Given the description of an element on the screen output the (x, y) to click on. 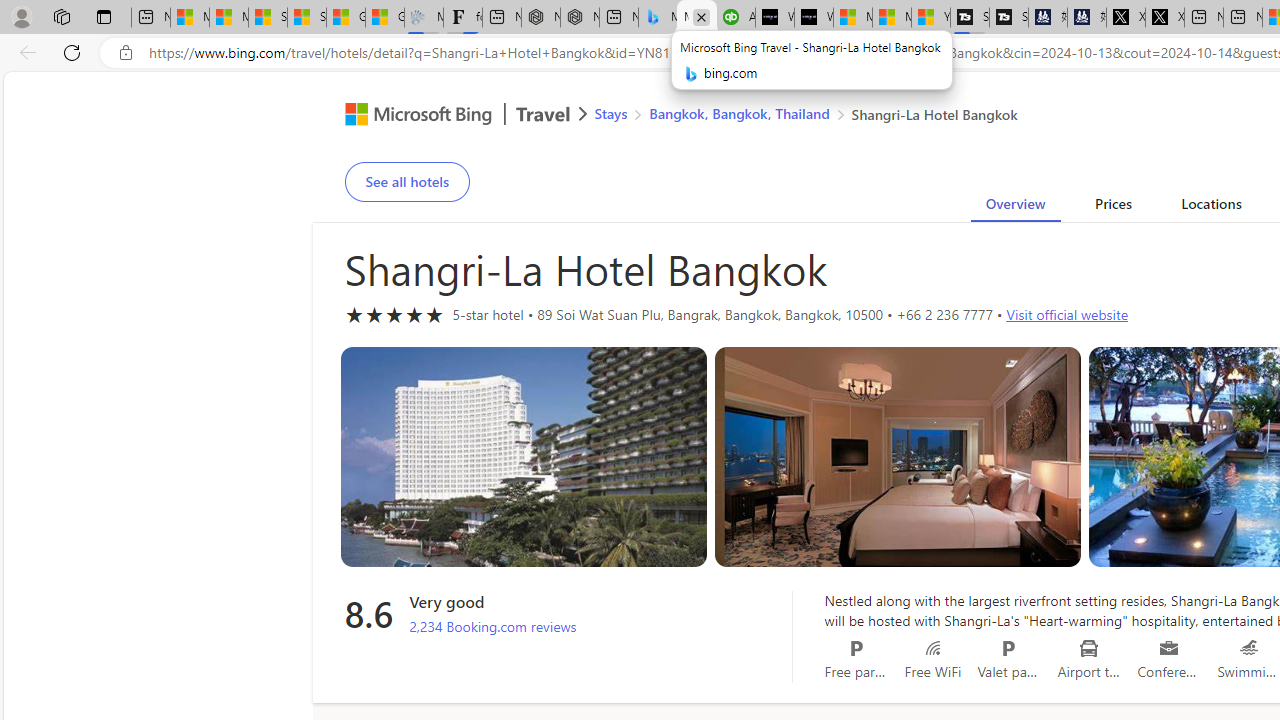
Prices (1112, 207)
Class: msft-bing-logo msft-bing-logo-desktop (413, 114)
Free parking (856, 647)
